Given the description of an element on the screen output the (x, y) to click on. 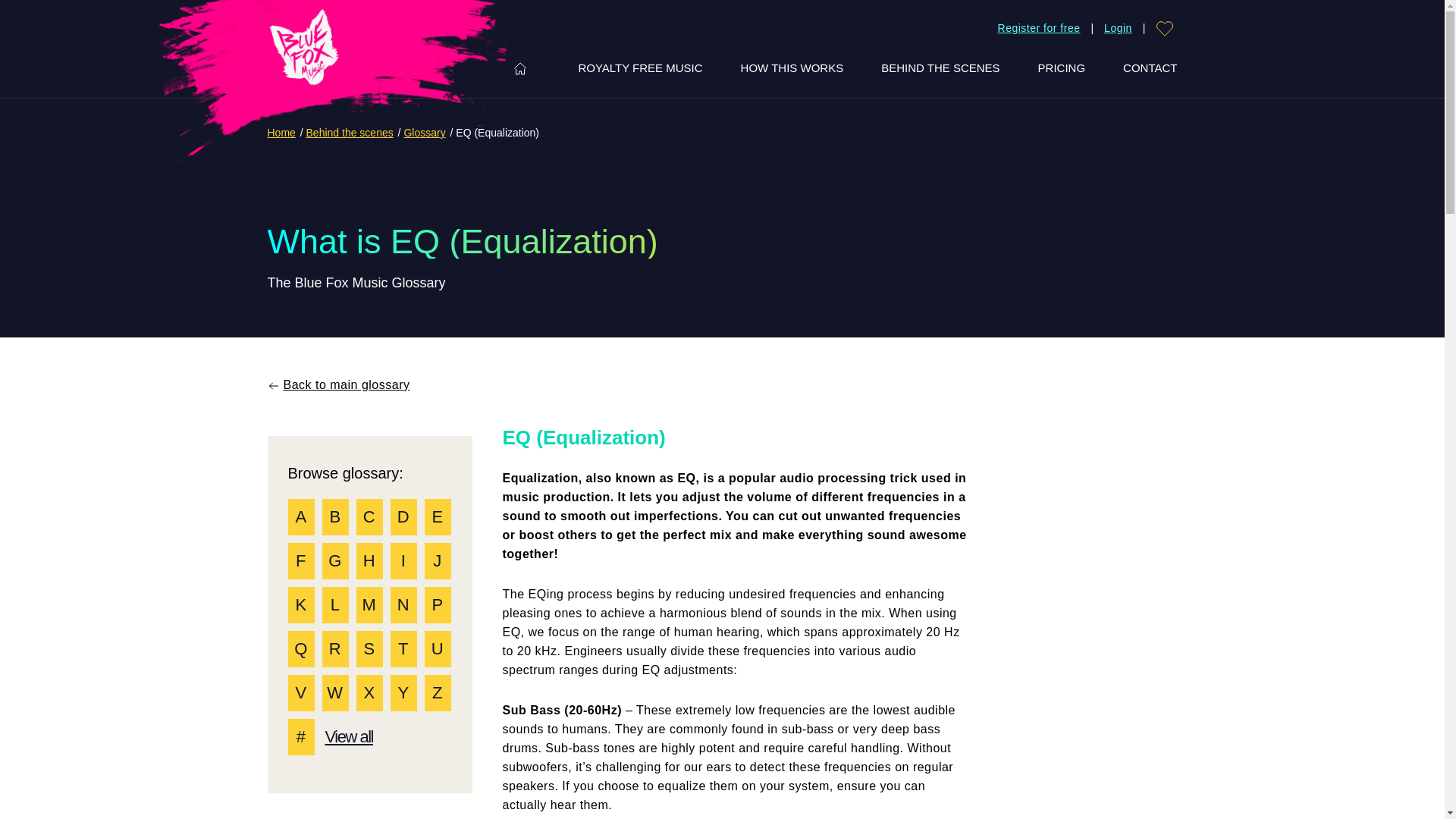
Behind the scenes (349, 132)
HOW THIS WORKS (792, 68)
Home (280, 132)
Register for free (1038, 28)
ROYALTY FREE MUSIC (639, 68)
Glossary (424, 132)
Login (1117, 28)
BEHIND THE SCENES (939, 68)
CONTACT (1149, 68)
Back to main glossary (337, 384)
